Given the description of an element on the screen output the (x, y) to click on. 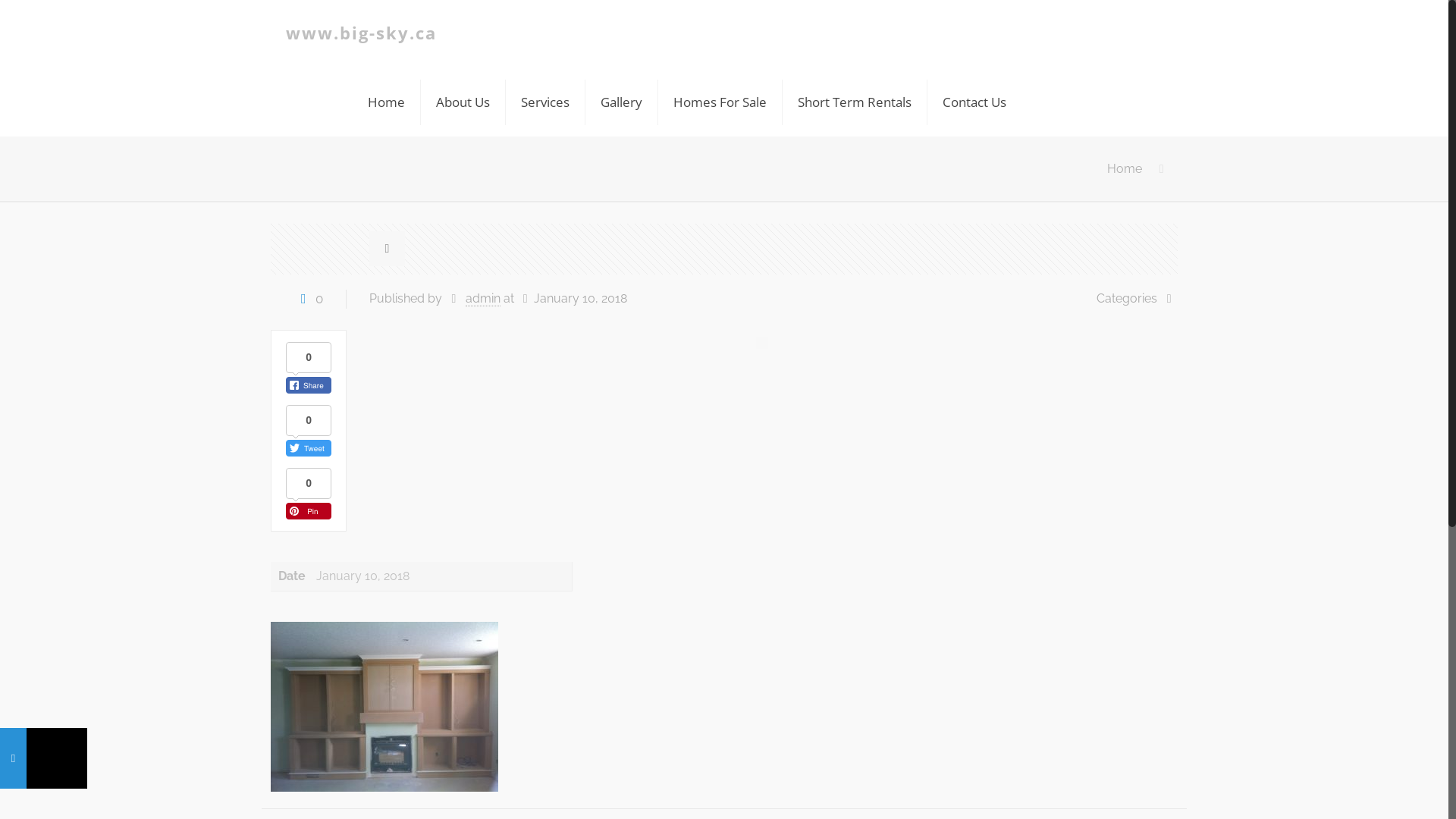
Home Element type: text (1124, 168)
Homes For Sale Element type: text (720, 102)
Home Element type: text (386, 102)
Contact Us Element type: text (974, 102)
Gallery Element type: text (621, 102)
Short Term Rentals Element type: text (854, 102)
www.big-sky.ca Element type: text (360, 34)
About Us Element type: text (462, 102)
Services Element type: text (545, 102)
0 Element type: text (308, 298)
admin Element type: text (482, 298)
